Given the description of an element on the screen output the (x, y) to click on. 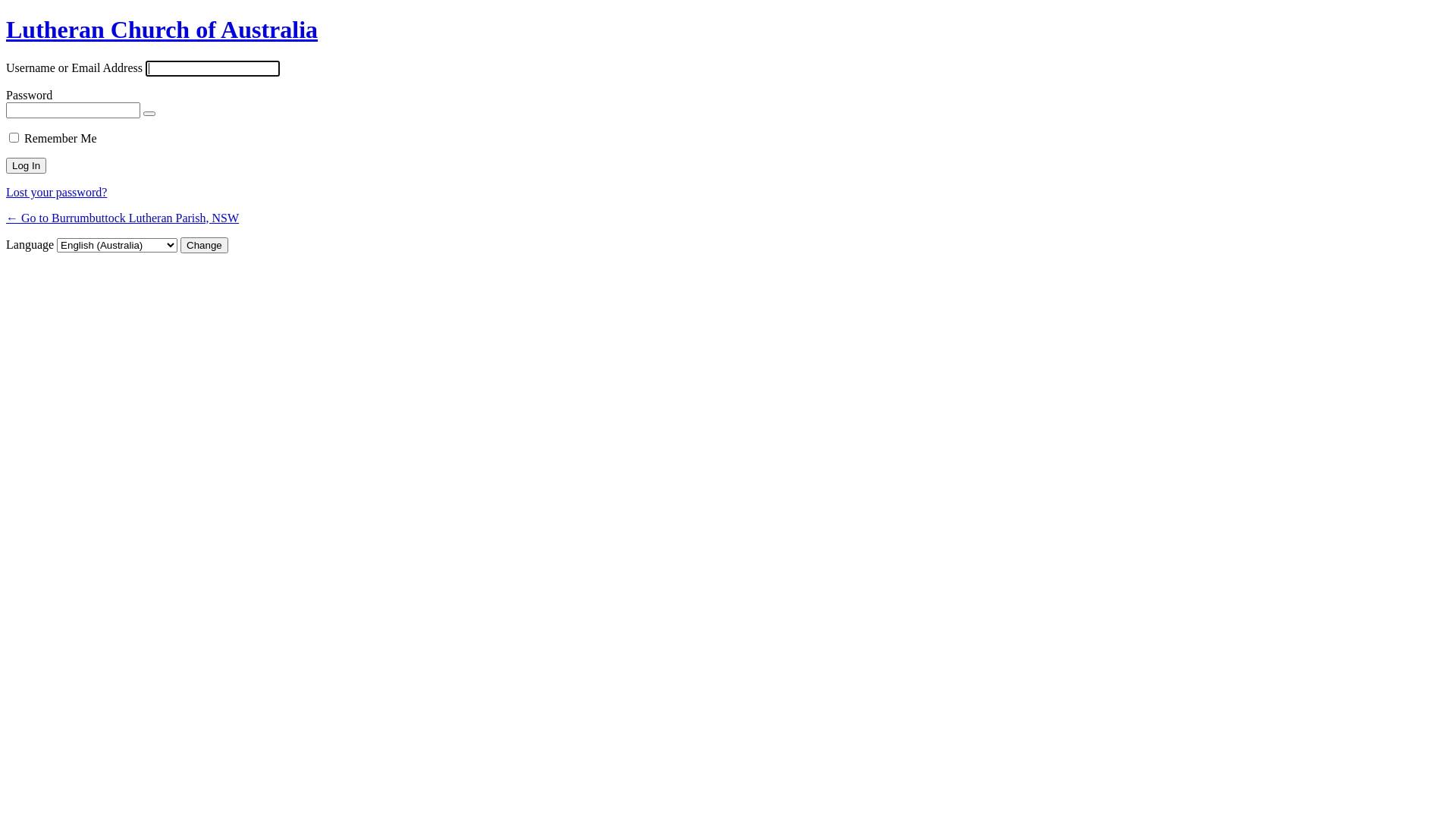
Lost your password? Element type: text (56, 191)
Change Element type: text (204, 245)
Log In Element type: text (26, 165)
Lutheran Church of Australia Element type: text (161, 29)
